Given the description of an element on the screen output the (x, y) to click on. 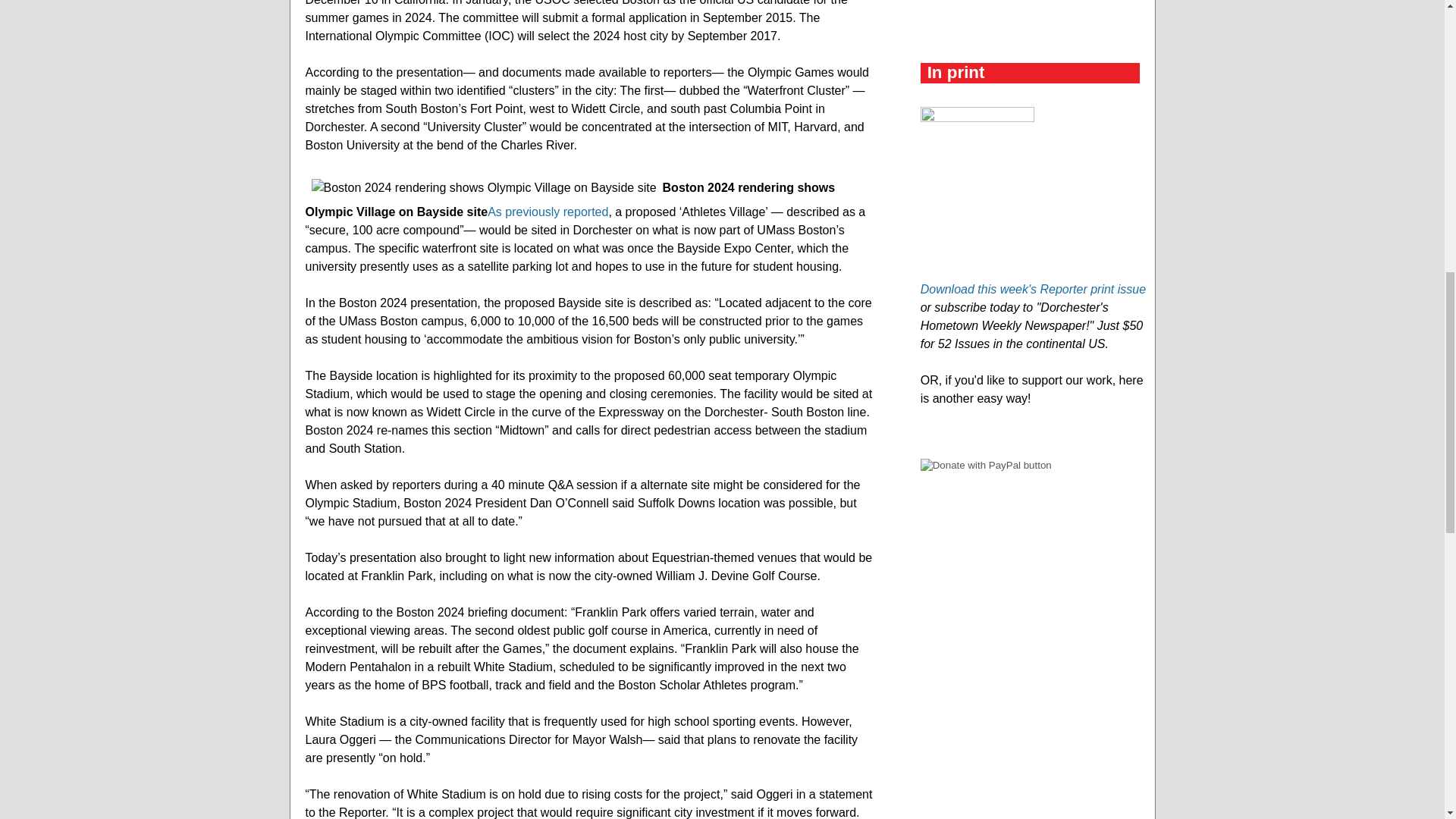
Download this week's Reporter print issue (1032, 288)
As previously reported (547, 211)
Boston 2024 rendering shows Olympic Village on Bayside site (483, 187)
PayPal - The safer, easier way to pay online! (985, 464)
